Given the description of an element on the screen output the (x, y) to click on. 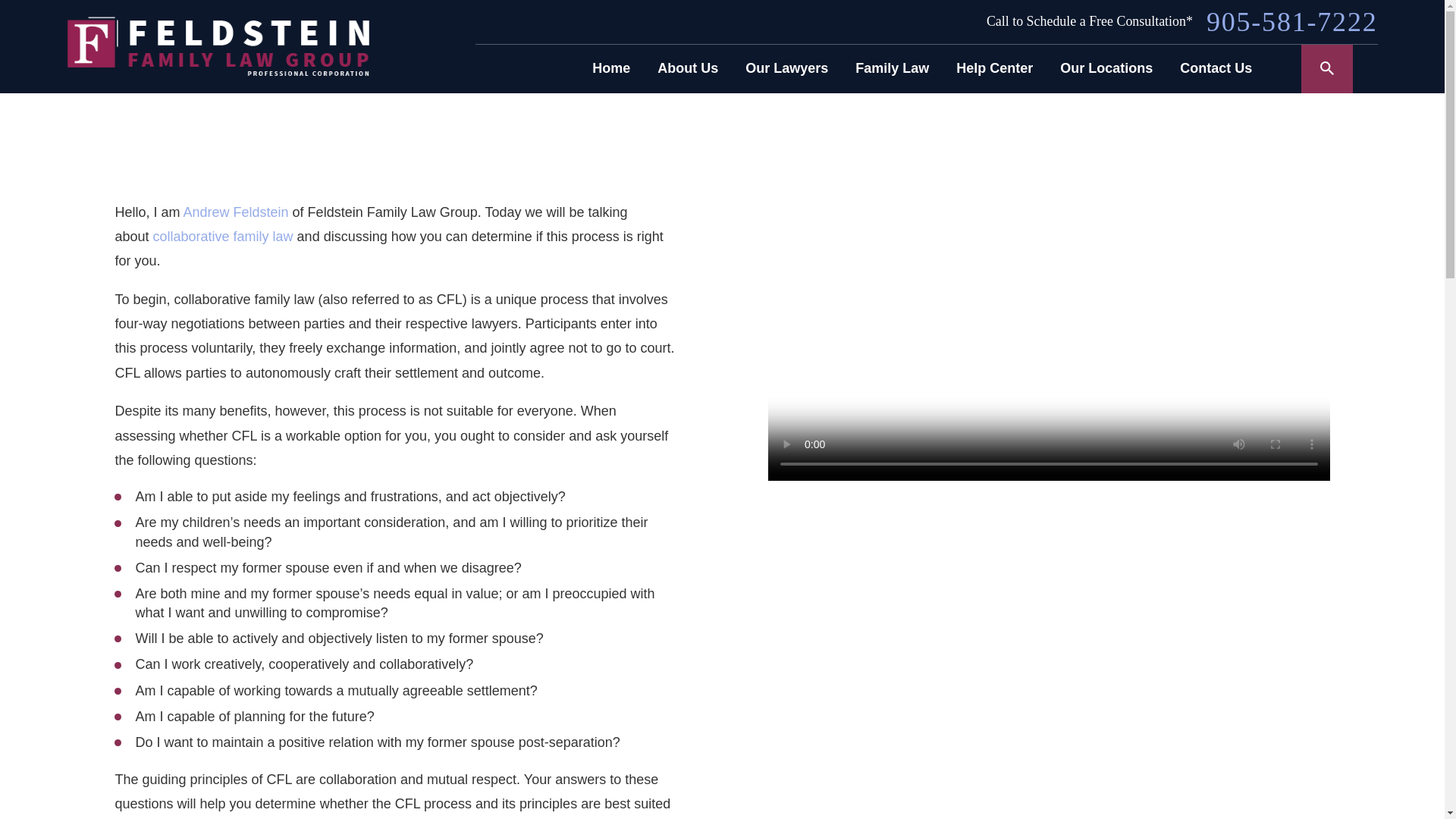
Family Law (892, 68)
905-581-7222 (1292, 22)
Home (611, 68)
Search our site (1326, 68)
About Us (687, 68)
Andrew Feldstein (235, 212)
Home (217, 46)
Our Lawyers (786, 68)
